Given the description of an element on the screen output the (x, y) to click on. 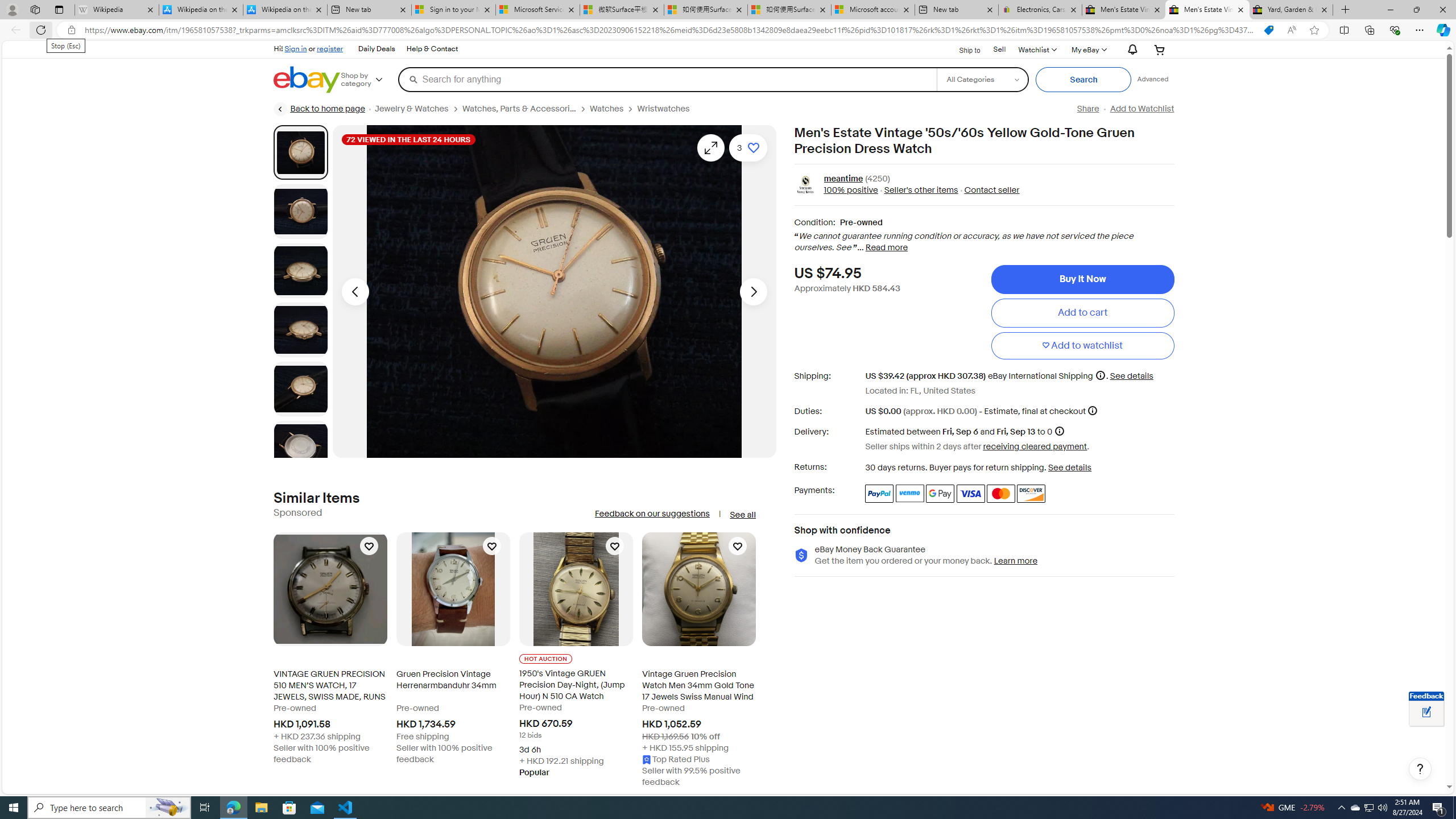
See all (742, 514)
Picture 6 of 8 (300, 447)
Daily Deals (376, 49)
Shop by category (368, 79)
Yard, Garden & Outdoor Living (1291, 9)
Back to home page (319, 109)
Buy It Now (1082, 279)
Daily Deals (376, 49)
Ship to (962, 50)
My eBay (1088, 49)
Feedback on our suggestions (652, 513)
Picture 1 of 8 (300, 152)
